Given the description of an element on the screen output the (x, y) to click on. 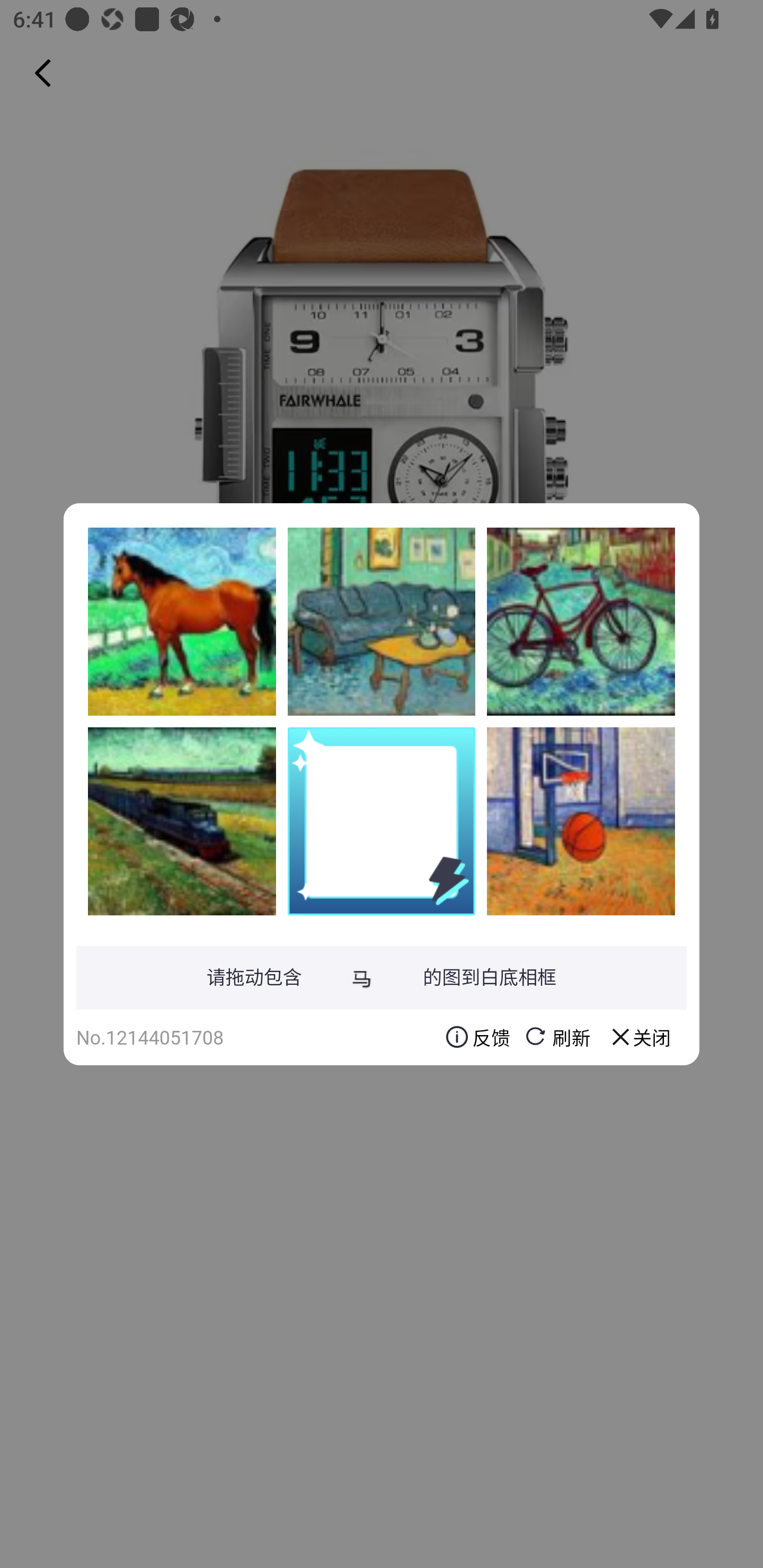
N12TdEwclxqlycos2lKR (181, 621)
uwv0vzvNwr (381, 621)
wQUGLkSX5XIx+5W9YskmgcFzM6jyZuwuStOOyDsNo3p (580, 621)
9f0PckHV2J++S2 (580, 820)
